Given the description of an element on the screen output the (x, y) to click on. 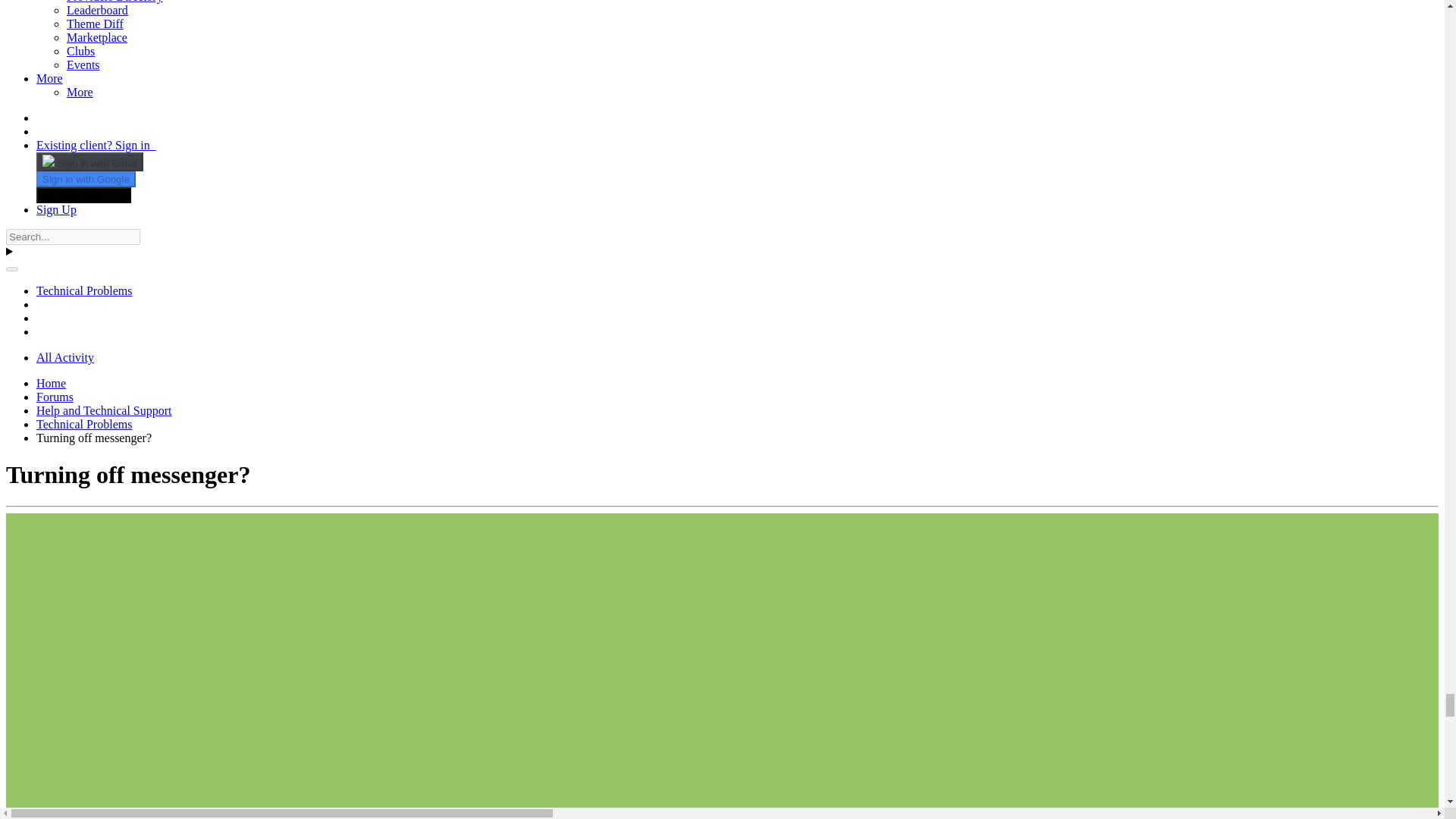
Home (50, 382)
